Given the description of an element on the screen output the (x, y) to click on. 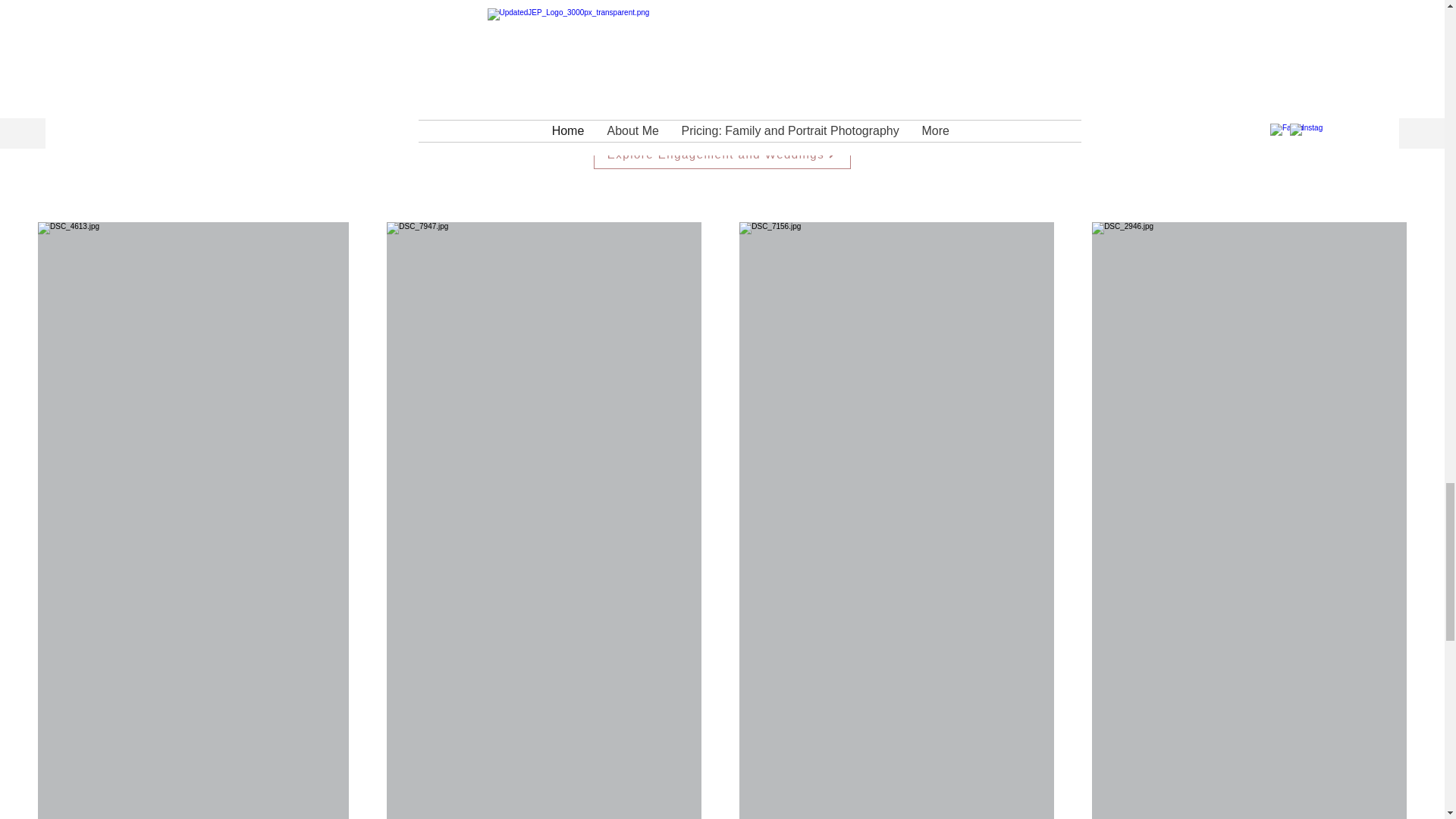
Explore Engagement and Weddings (721, 153)
